Given the description of an element on the screen output the (x, y) to click on. 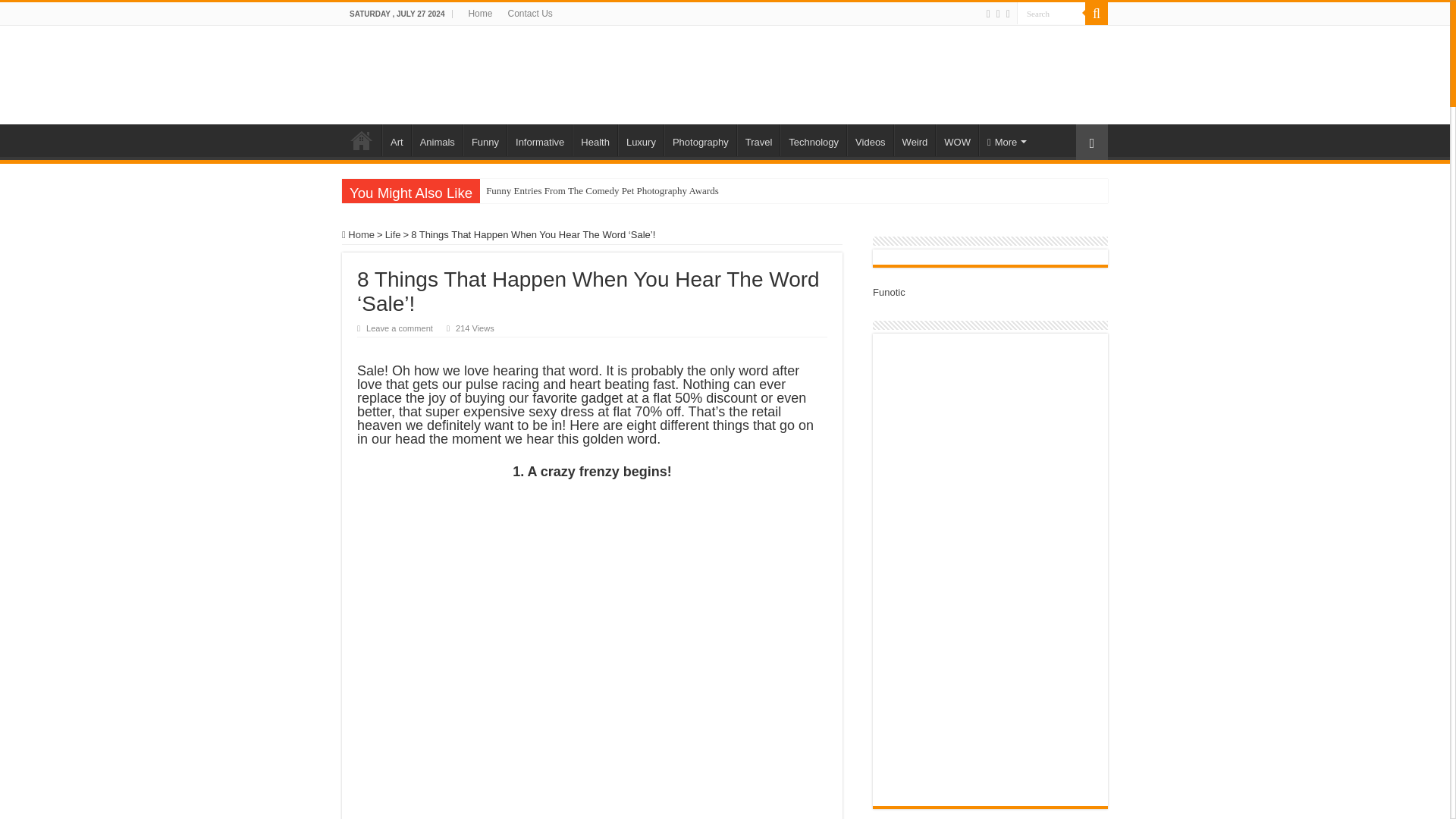
Search (1050, 13)
Animals (437, 140)
More (1005, 140)
Photography (699, 140)
Funny (484, 140)
Technology (812, 140)
Health (594, 140)
Travel (758, 140)
Weird (914, 140)
Search (1096, 13)
WOW (957, 140)
Videos (870, 140)
Search (1050, 13)
Informative (539, 140)
Search (1050, 13)
